Given the description of an element on the screen output the (x, y) to click on. 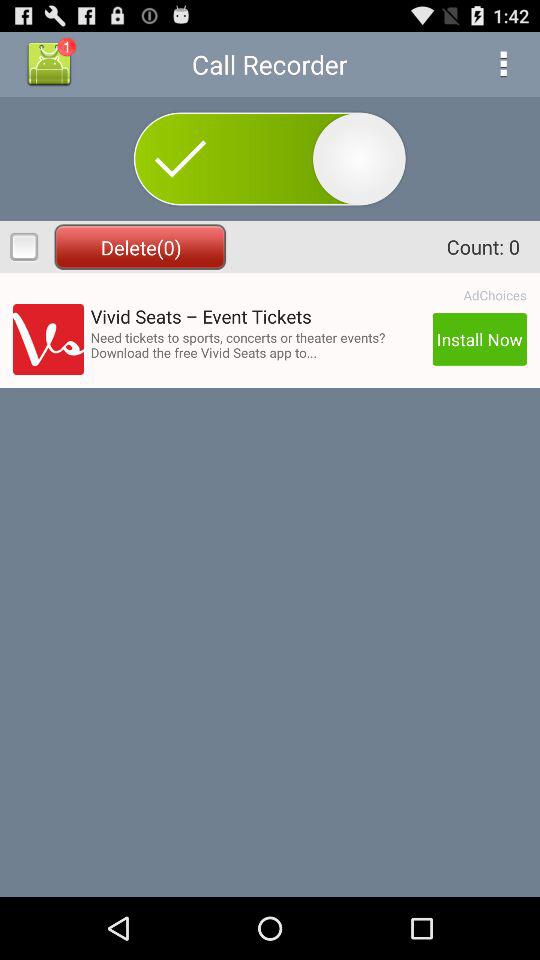
tap install now icon (479, 339)
